Given the description of an element on the screen output the (x, y) to click on. 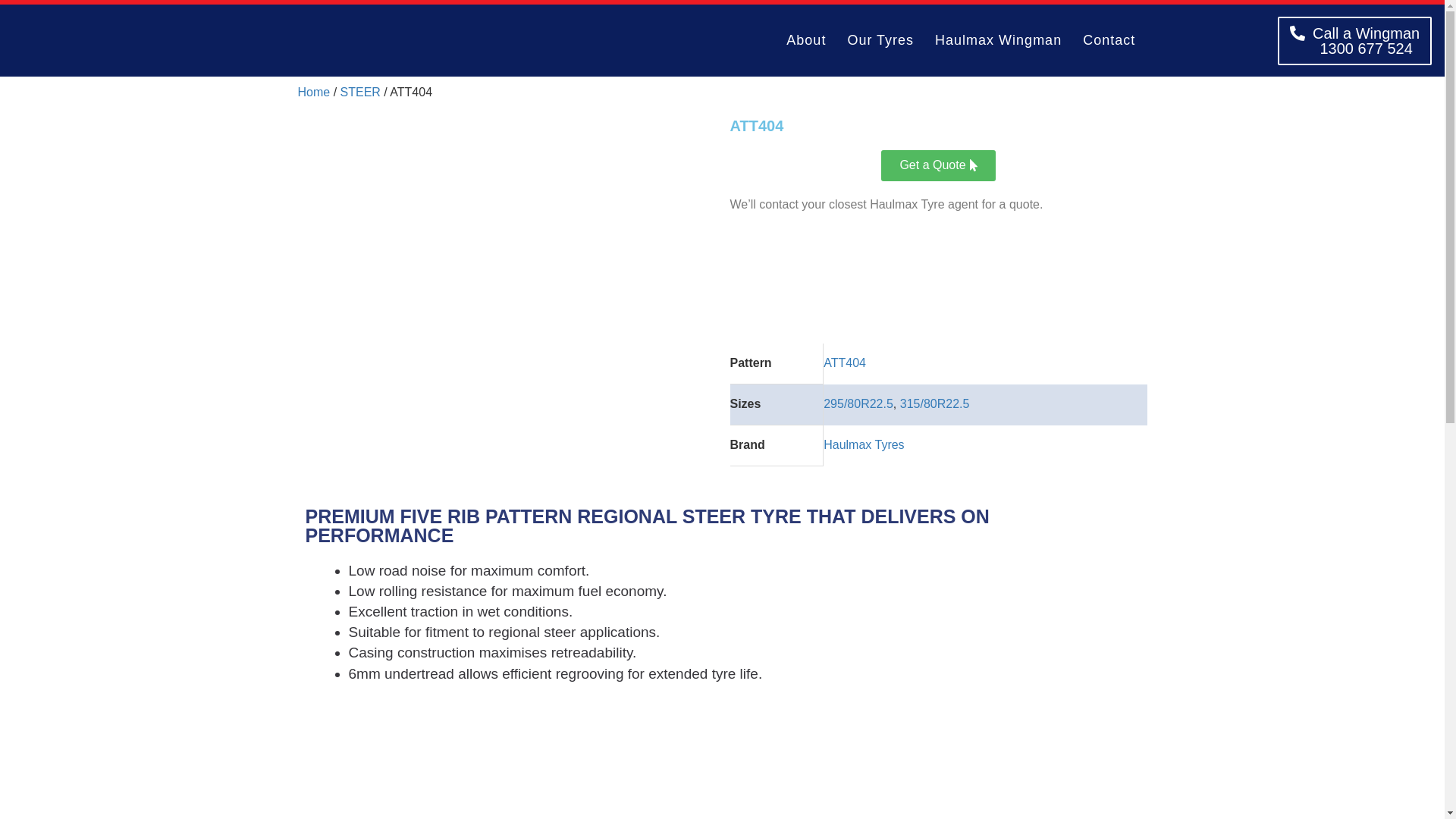
Our Tyres Element type: text (880, 40)
Haulmax Wingman Element type: text (998, 40)
STEER Element type: text (360, 91)
Home Element type: text (313, 91)
Haulmax Tyres Element type: text (863, 444)
About Element type: text (805, 40)
315/80R22.5 Element type: text (934, 403)
295/80R22.5 Element type: text (858, 403)
Contact Element type: text (1108, 40)
Get a Quote Element type: text (937, 165)
Call a Wingman
1300 677 524 Element type: text (1354, 40)
ATT404 Element type: text (844, 362)
